Given the description of an element on the screen output the (x, y) to click on. 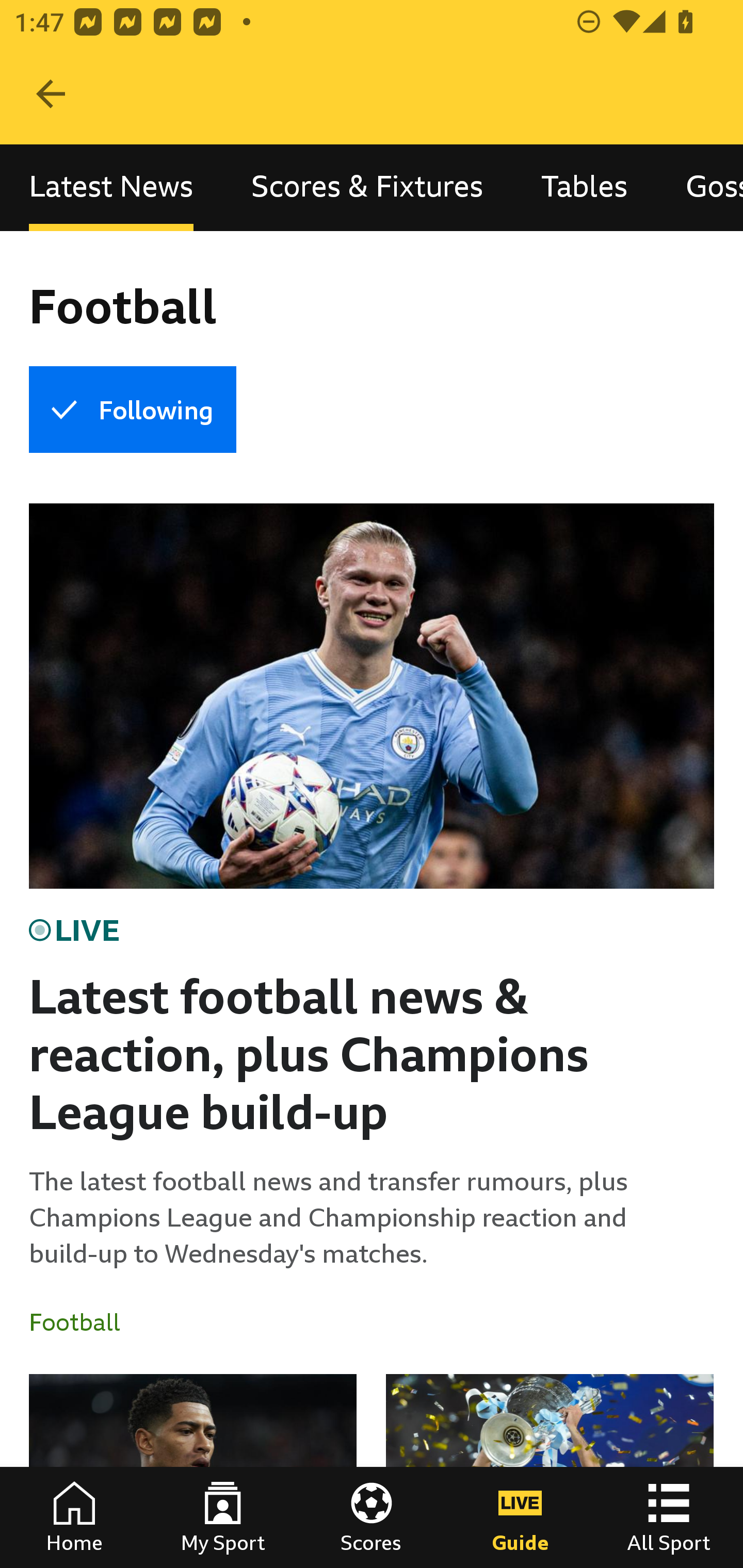
Navigate up (50, 93)
Latest News, selected Latest News (111, 187)
Scores & Fixtures (367, 187)
Tables (584, 187)
Gossip (699, 187)
Following Football Following (132, 409)
Home (74, 1517)
My Sport (222, 1517)
Scores (371, 1517)
All Sport (668, 1517)
